Given the description of an element on the screen output the (x, y) to click on. 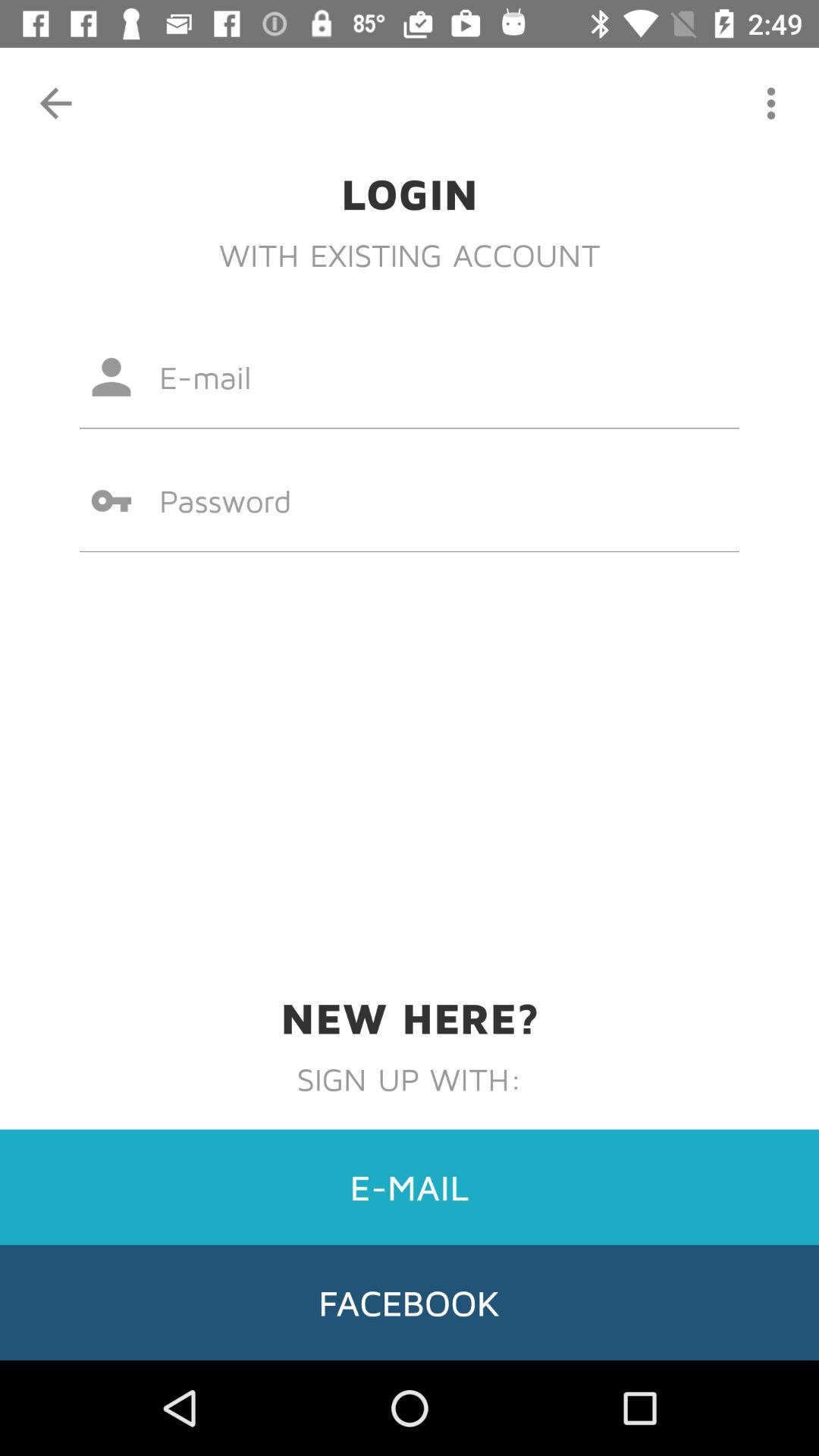
choose facebook item (409, 1302)
